Given the description of an element on the screen output the (x, y) to click on. 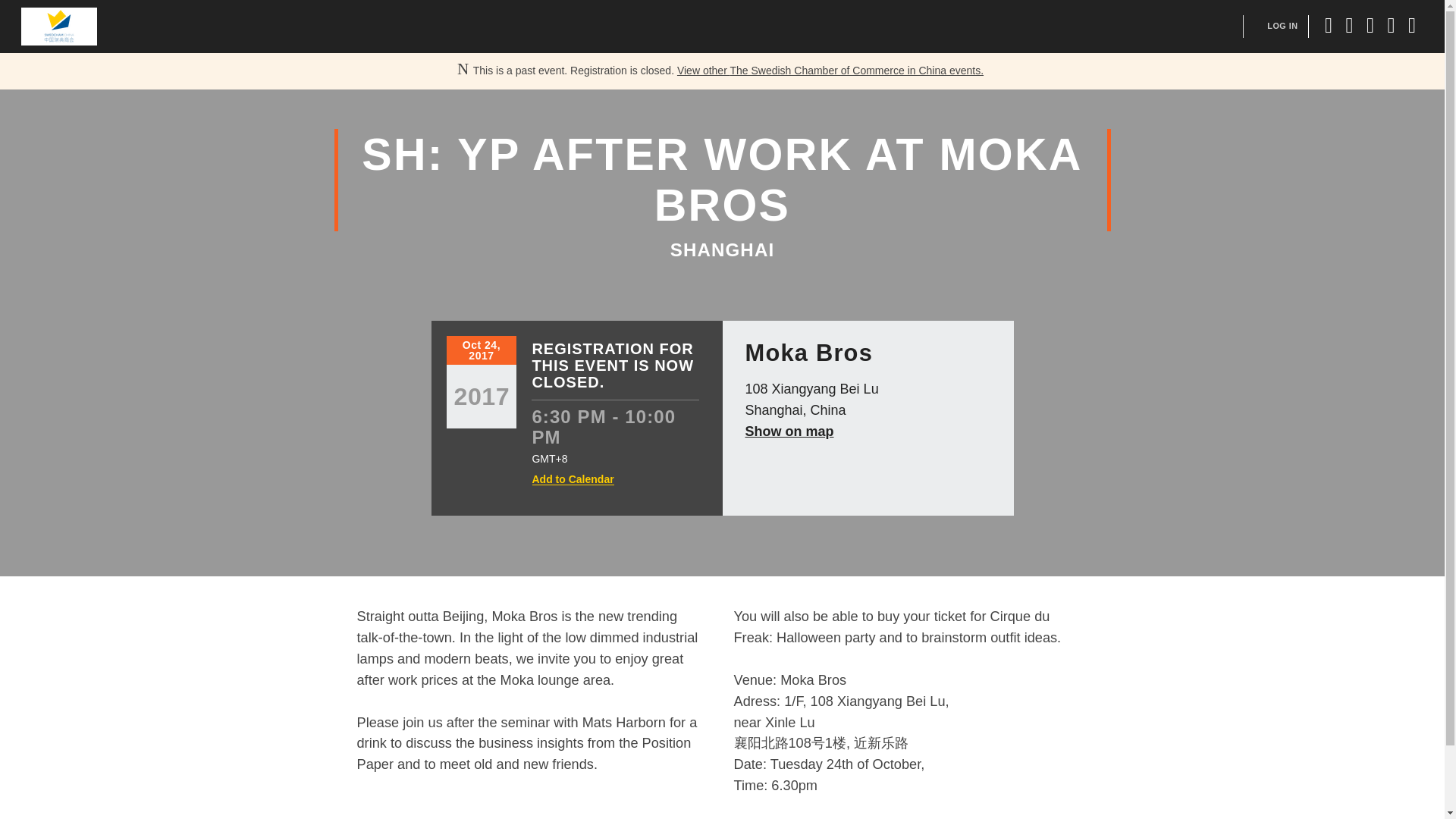
LOG IN (1282, 26)
View other The Swedish Chamber of Commerce in China events. (830, 70)
Show on map (788, 431)
Sign in (1282, 26)
Add to Calendar (573, 479)
